Given the description of an element on the screen output the (x, y) to click on. 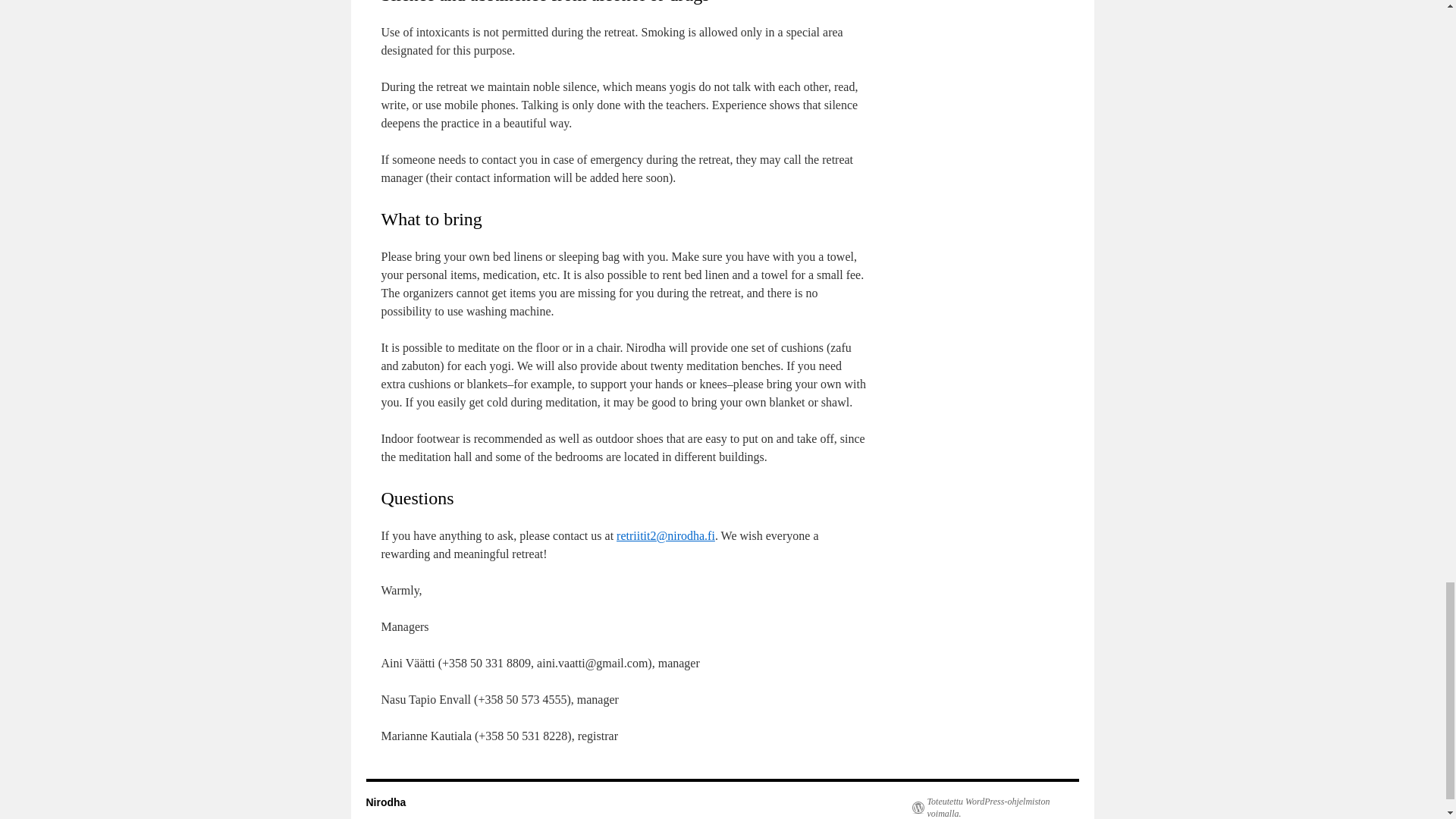
Nirodha (385, 802)
